Given the description of an element on the screen output the (x, y) to click on. 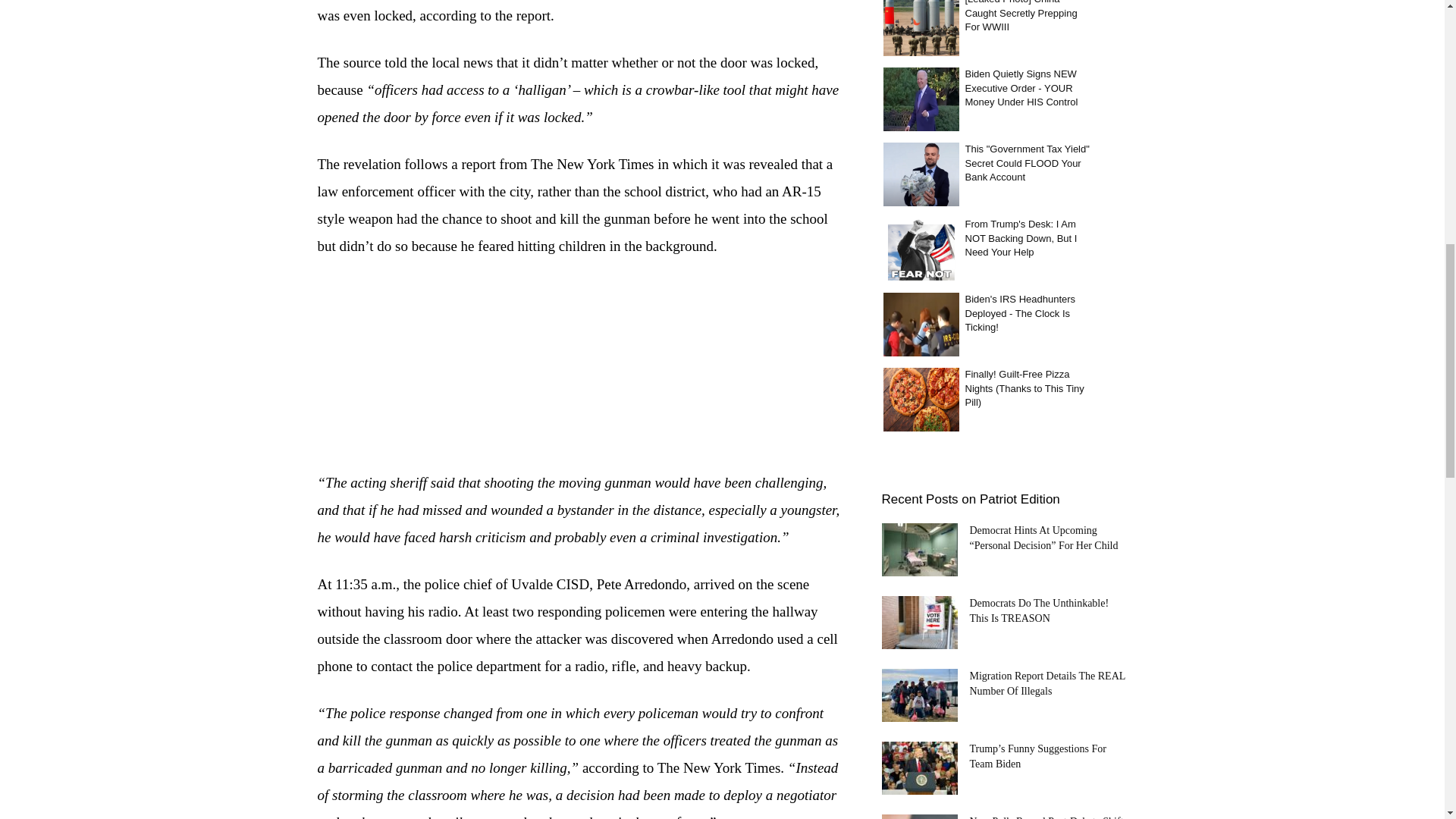
Biden's IRS Headhunters Deployed - The Clock Is Ticking! (920, 323)
This  (920, 173)
